Given the description of an element on the screen output the (x, y) to click on. 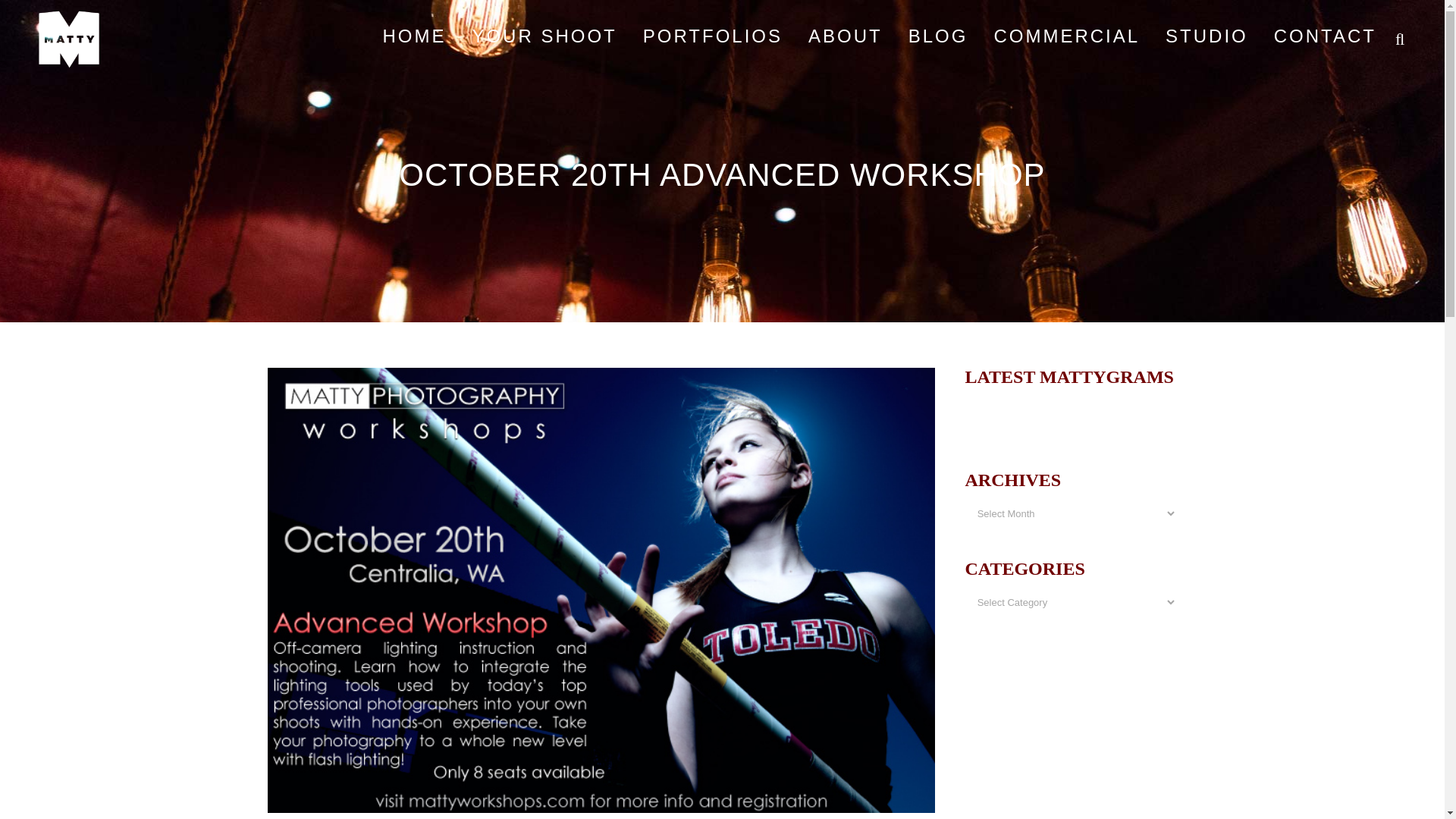
STUDIO (1206, 36)
COMMERCIAL (1066, 36)
HOME (413, 36)
ABOUT (844, 36)
CONTACT (1324, 36)
BLOG (938, 36)
YOUR SHOOT (543, 36)
PORTFOLIOS (712, 36)
